Given the description of an element on the screen output the (x, y) to click on. 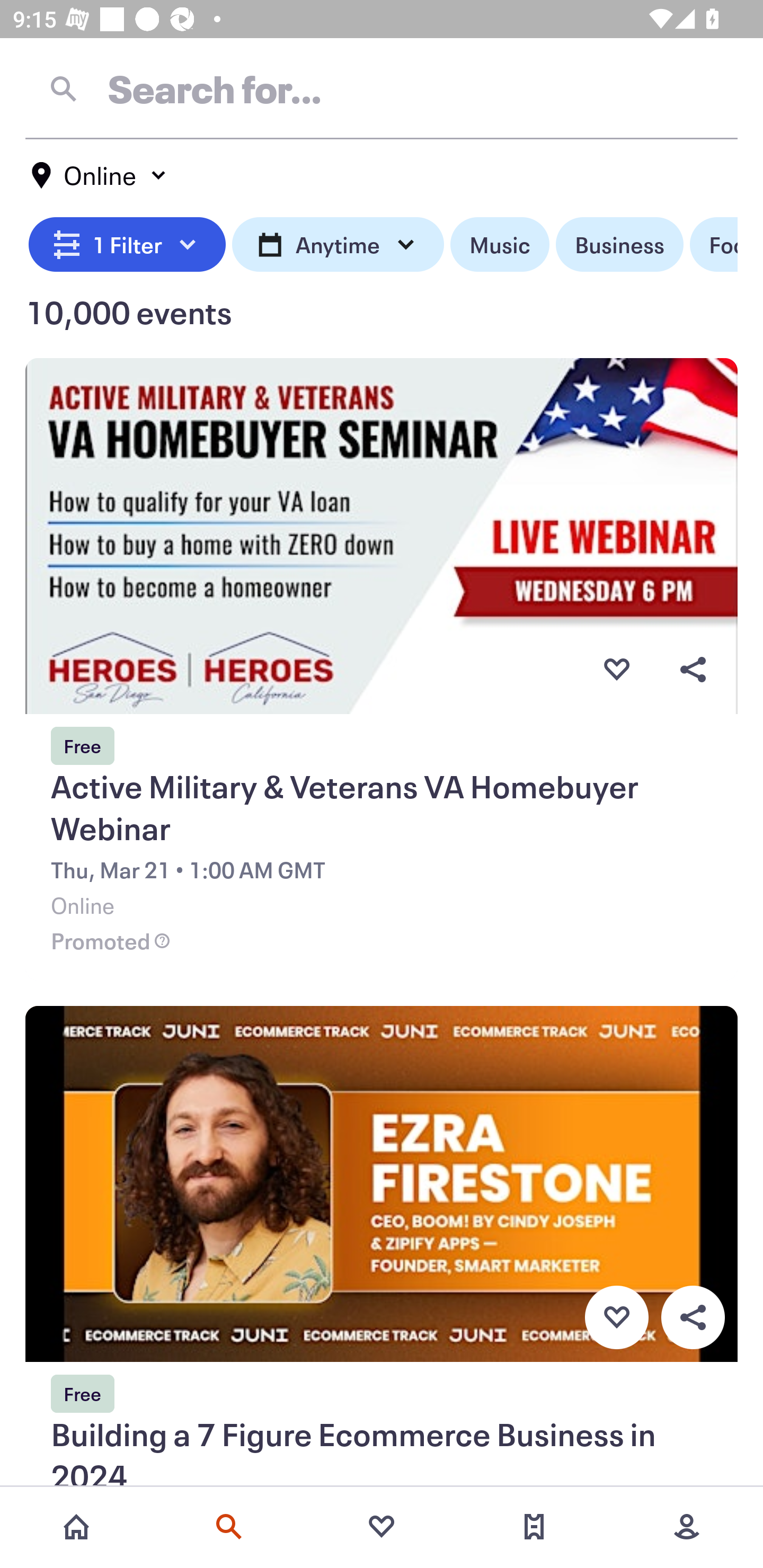
Search for… (381, 88)
Online (99, 175)
1 Filter (126, 244)
Anytime (337, 244)
Music (499, 244)
Business (619, 244)
Favorite button (616, 669)
Overflow menu button (692, 669)
Favorite button (616, 1317)
Overflow menu button (692, 1317)
Home (76, 1526)
Search events (228, 1526)
Favorites (381, 1526)
Tickets (533, 1526)
More (686, 1526)
